Given the description of an element on the screen output the (x, y) to click on. 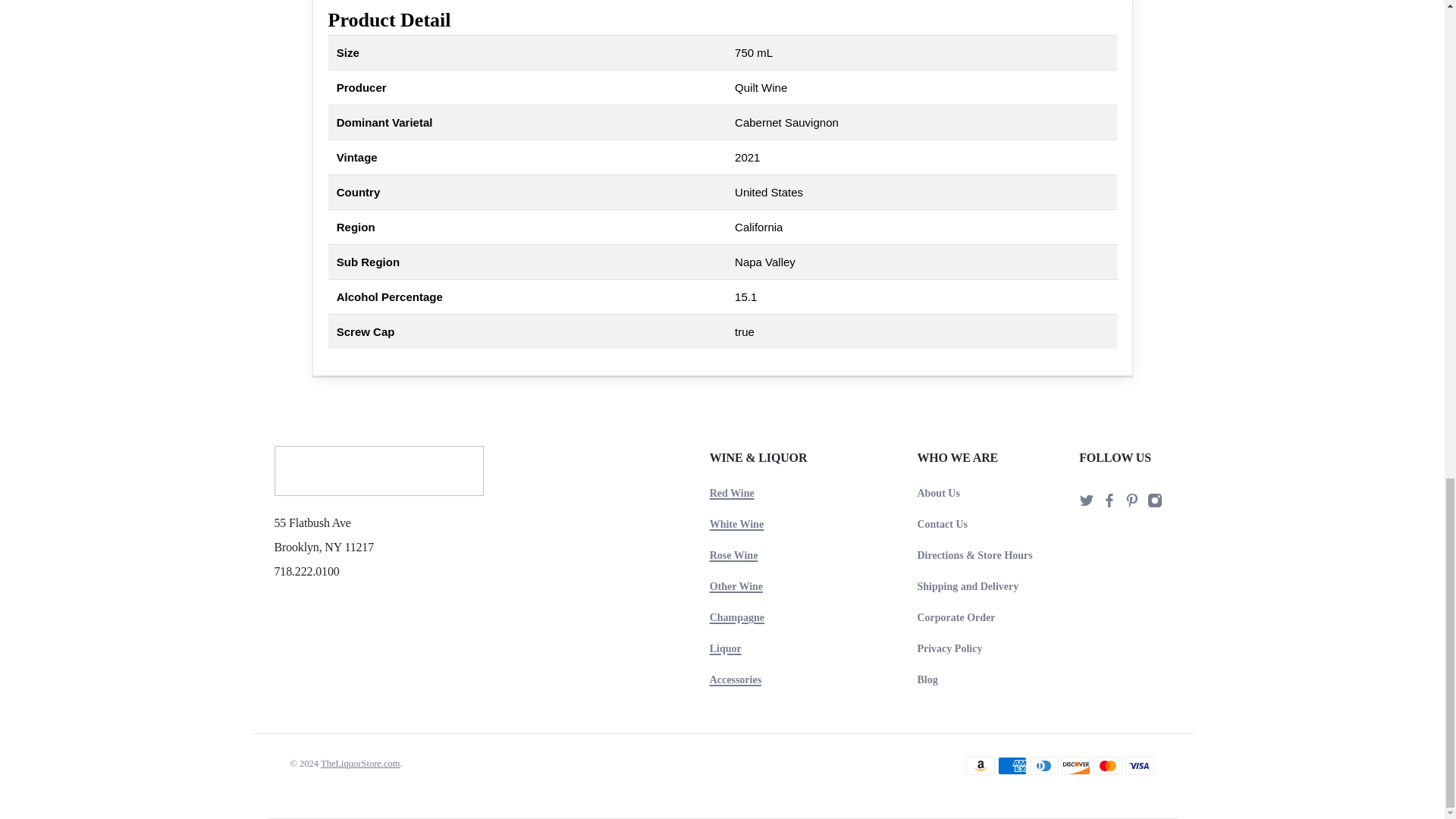
Visa (1139, 765)
TheLiquorStore.com on Twitter (1086, 503)
Amazon (980, 765)
TheLiquorStore.com (379, 478)
Mastercard (1107, 765)
Diners Club (1043, 765)
American Express (1011, 765)
TheLiquorStore.com on Facebook (1109, 503)
TheLiquorStore.com on Pinterest (1132, 503)
Discover (1075, 765)
TheLiquorStore.com on Instagram (1154, 503)
